Given the description of an element on the screen output the (x, y) to click on. 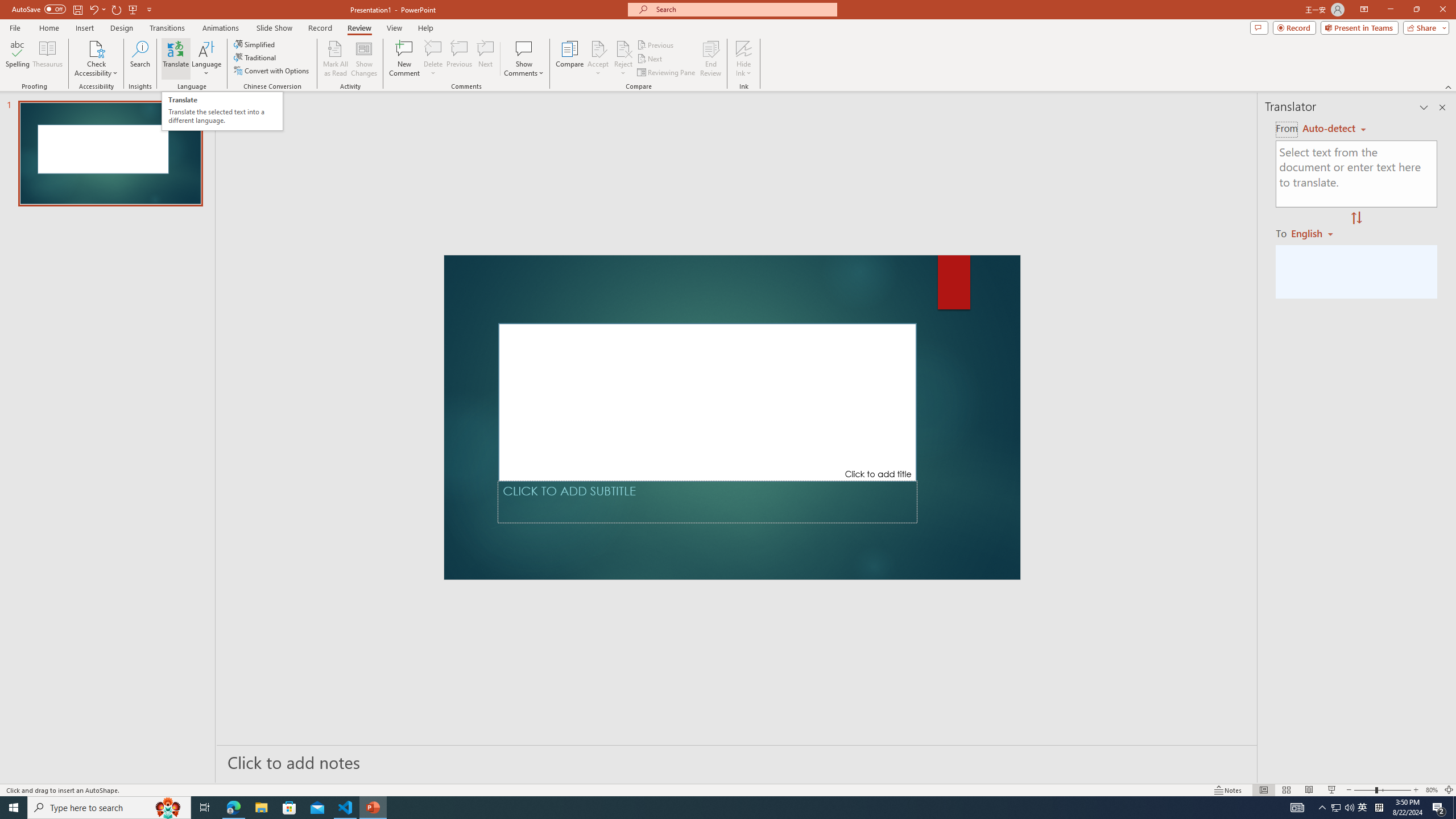
Subtitle TextBox (707, 501)
Compare (569, 58)
Convert with Options... (272, 69)
Accept (598, 58)
Show Comments (524, 48)
